Given the description of an element on the screen output the (x, y) to click on. 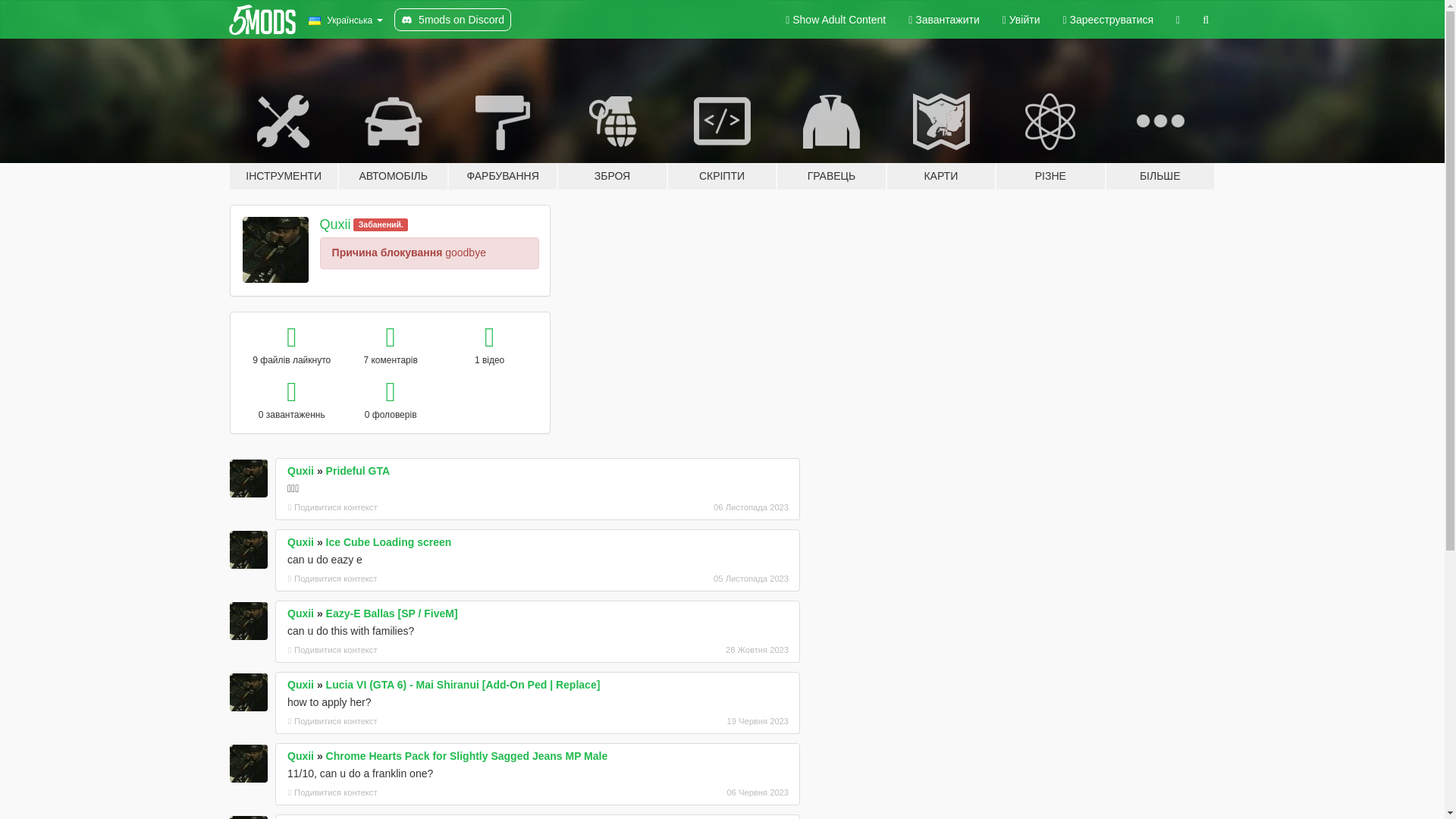
5mods on Discord (452, 19)
Show Adult Content (835, 19)
Light mode (835, 19)
